Given the description of an element on the screen output the (x, y) to click on. 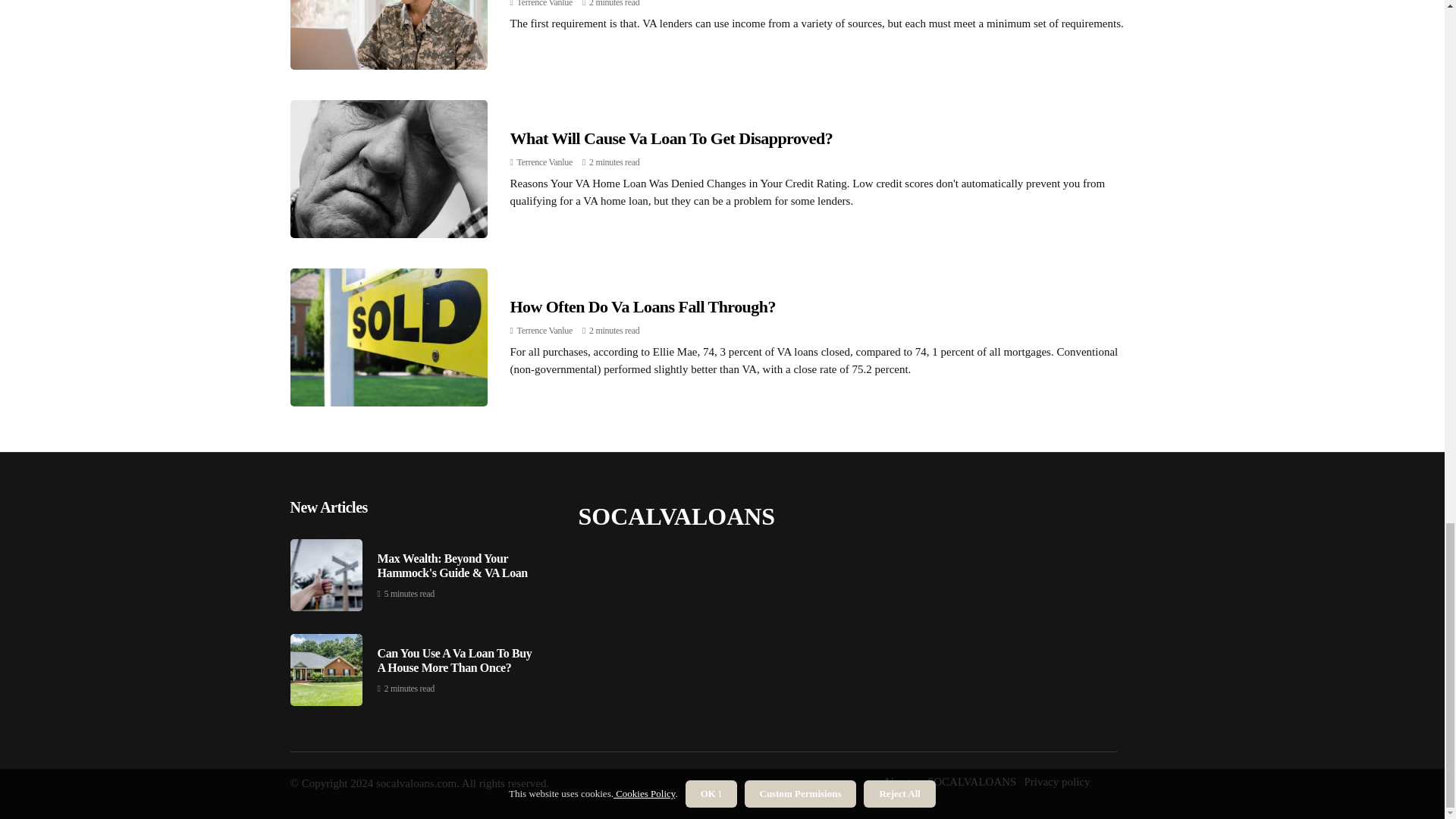
Posts by Terrence Vanlue (544, 330)
Terrence Vanlue (544, 330)
How Often Do Va Loans Fall Through? (641, 306)
Posts by Terrence Vanlue (544, 162)
What Will Cause Va Loan To Get Disapproved? (670, 138)
Terrence Vanlue (544, 162)
Terrence Vanlue (544, 3)
Posts by Terrence Vanlue (544, 3)
